Given the description of an element on the screen output the (x, y) to click on. 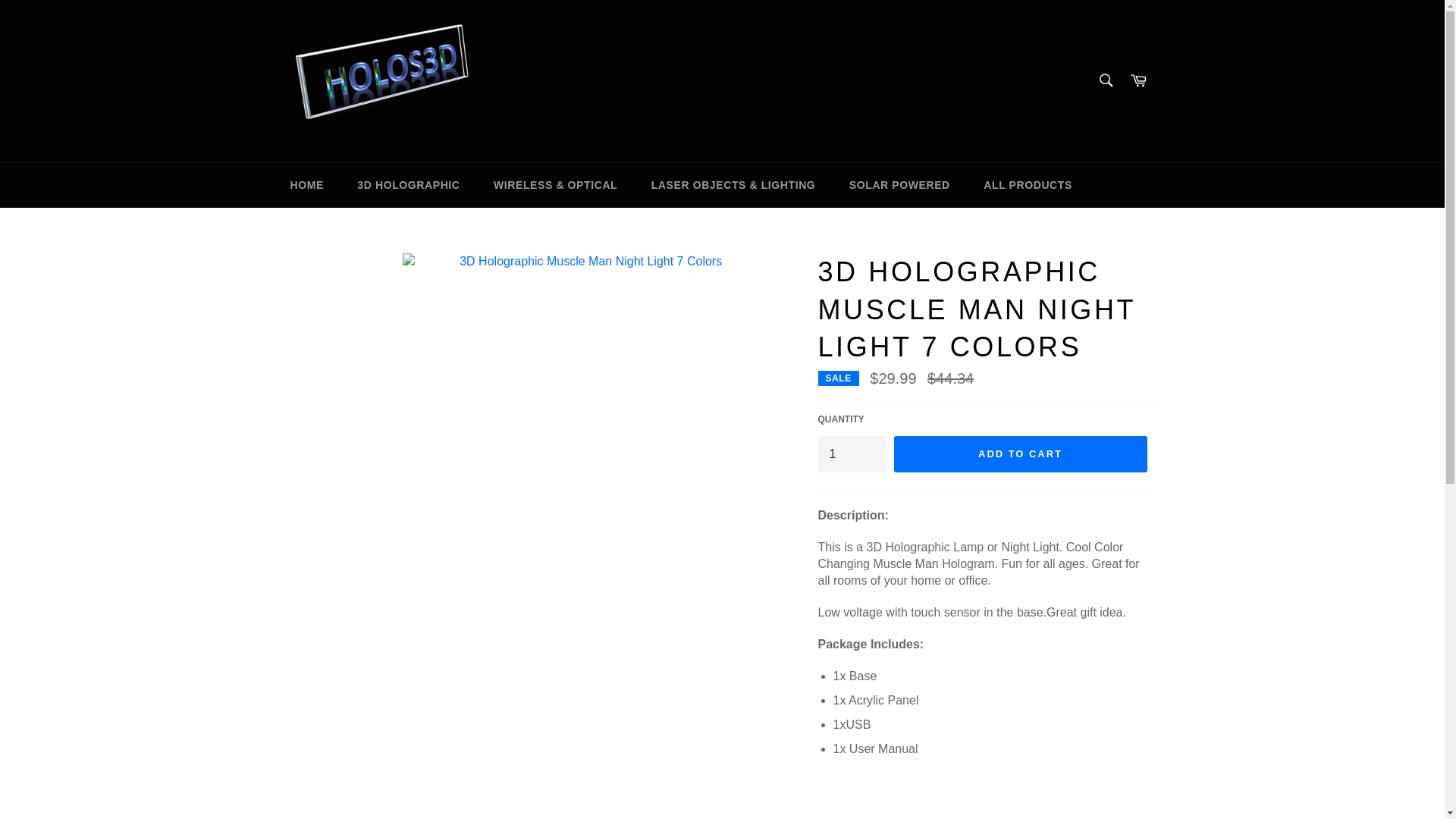
HOME (306, 185)
ADD TO CART (1020, 453)
Cart (1138, 80)
SOLAR POWERED (899, 185)
Search (1104, 79)
ALL PRODUCTS (1027, 185)
3D HOLOGRAPHIC (408, 185)
1 (850, 453)
